Given the description of an element on the screen output the (x, y) to click on. 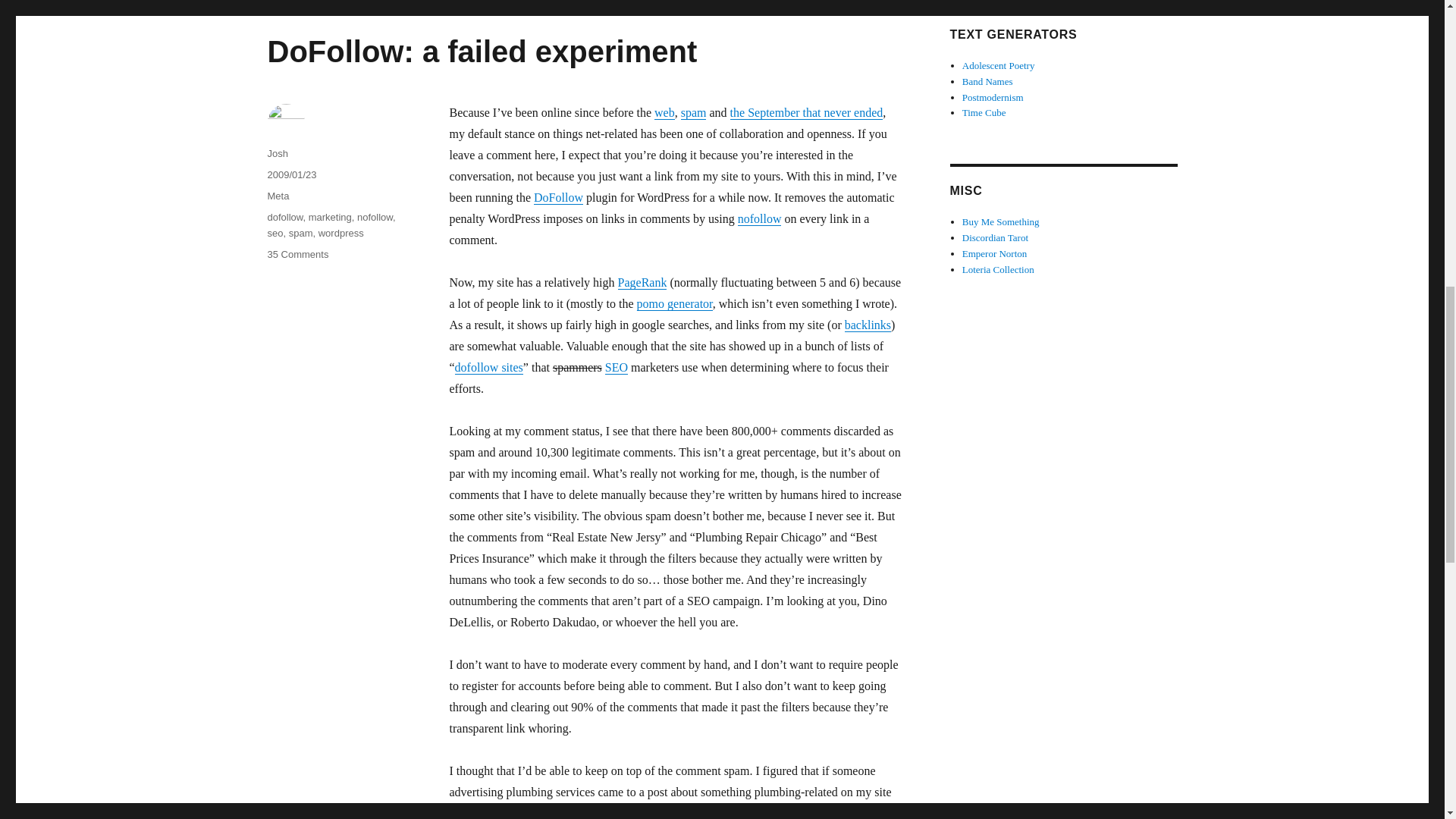
PageRank (641, 282)
the September that never ended (806, 112)
spam (693, 112)
SEO (616, 367)
spam (300, 233)
nofollow (759, 218)
pomo generator (675, 303)
dofollow sites (488, 367)
DoFollow (558, 196)
web (664, 112)
Meta (277, 195)
backlinks (867, 324)
dofollow (284, 216)
nofollow (374, 216)
Josh (276, 153)
